Given the description of an element on the screen output the (x, y) to click on. 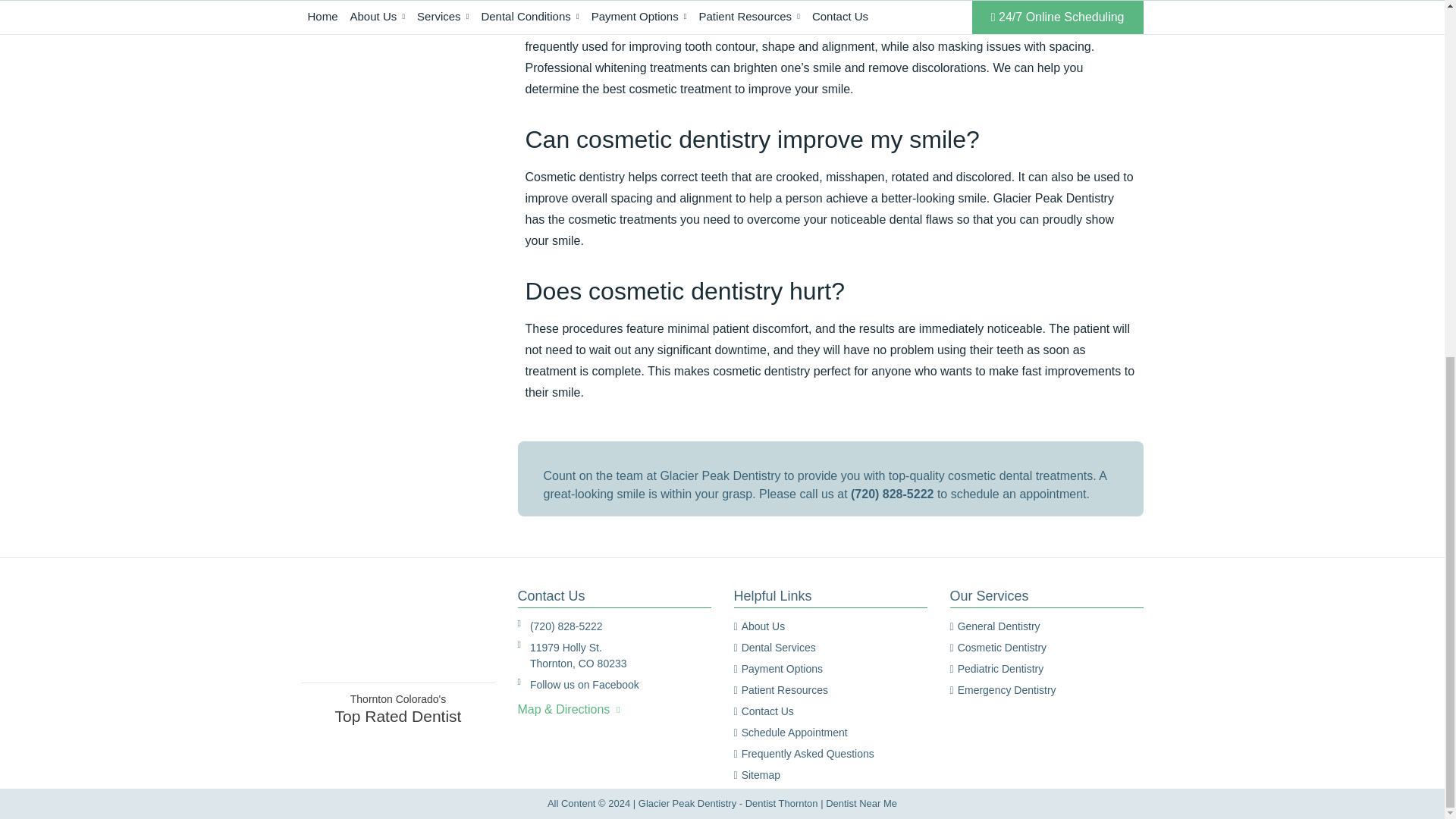
Glacier Peak Dentistry (398, 634)
